Given the description of an element on the screen output the (x, y) to click on. 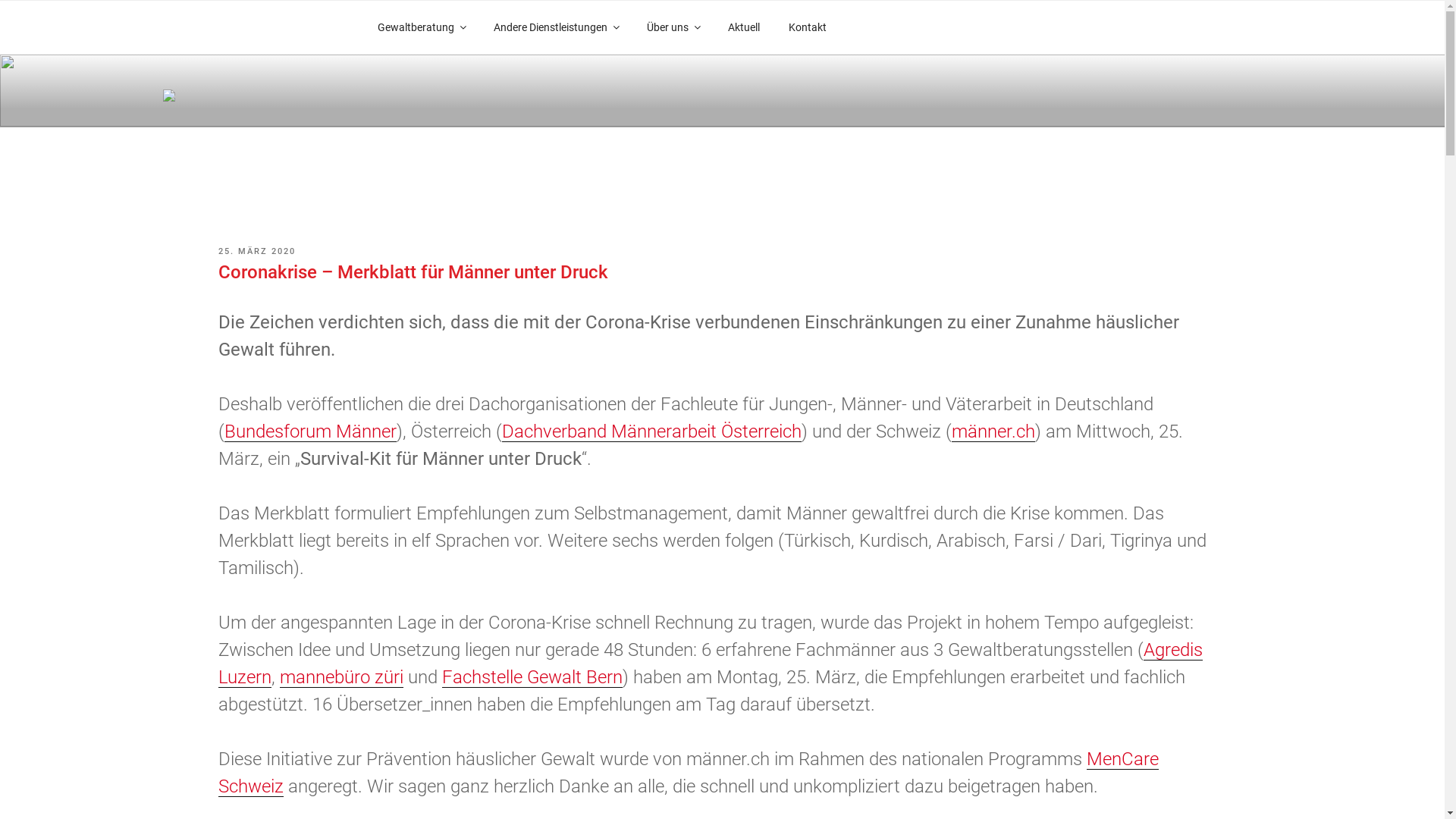
Kontakt Element type: text (807, 27)
Agredis Luzern Element type: text (710, 662)
Gewaltberatung Element type: text (420, 27)
Andere Dienstleistungen Element type: text (555, 27)
MenCare Schweiz Element type: text (688, 771)
Aktuell Element type: text (743, 27)
Fachstelle Gewalt Bern Element type: text (532, 676)
